Given the description of an element on the screen output the (x, y) to click on. 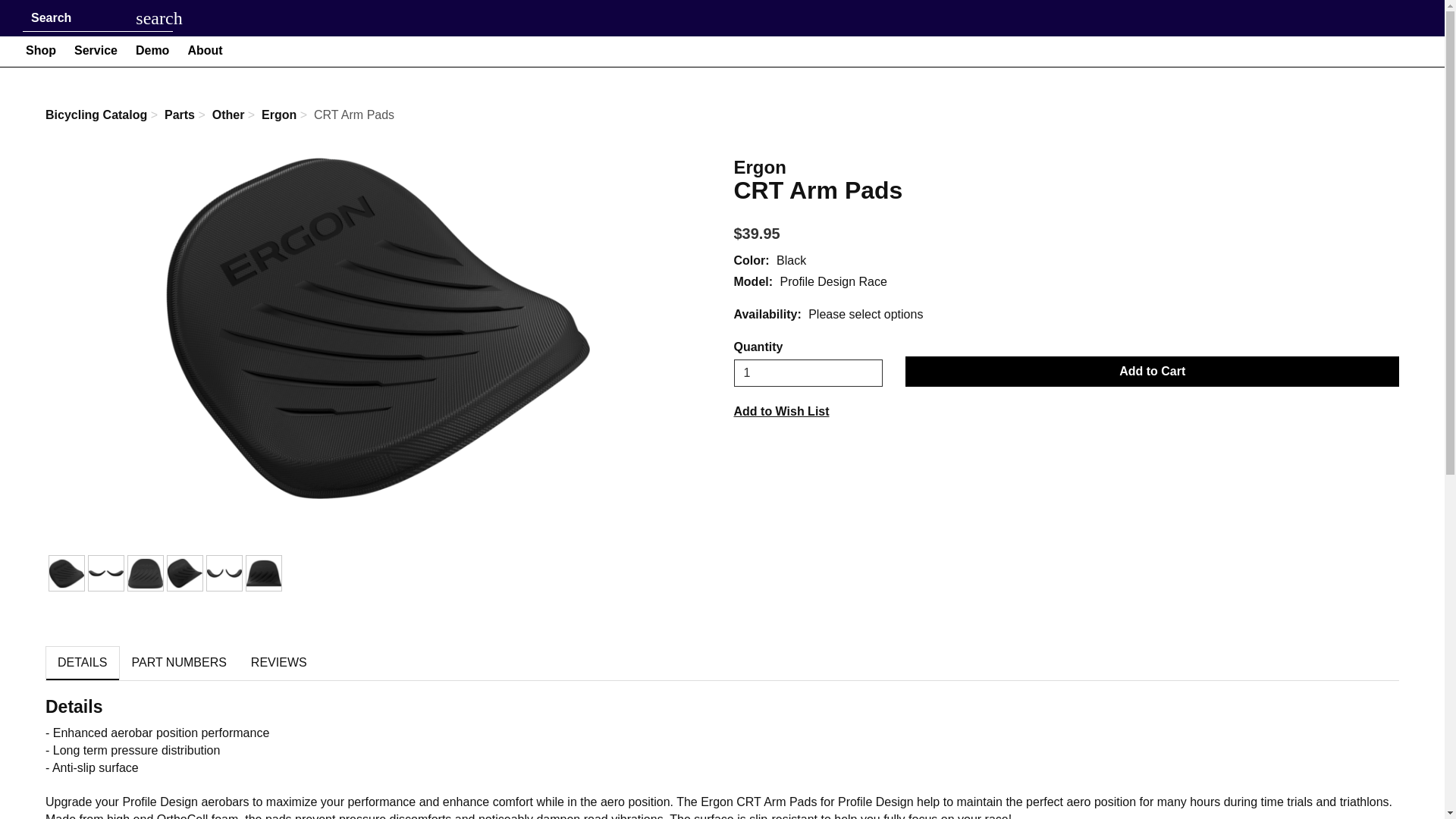
Search (159, 17)
1 (808, 372)
Search (84, 17)
Shop (40, 50)
